Given the description of an element on the screen output the (x, y) to click on. 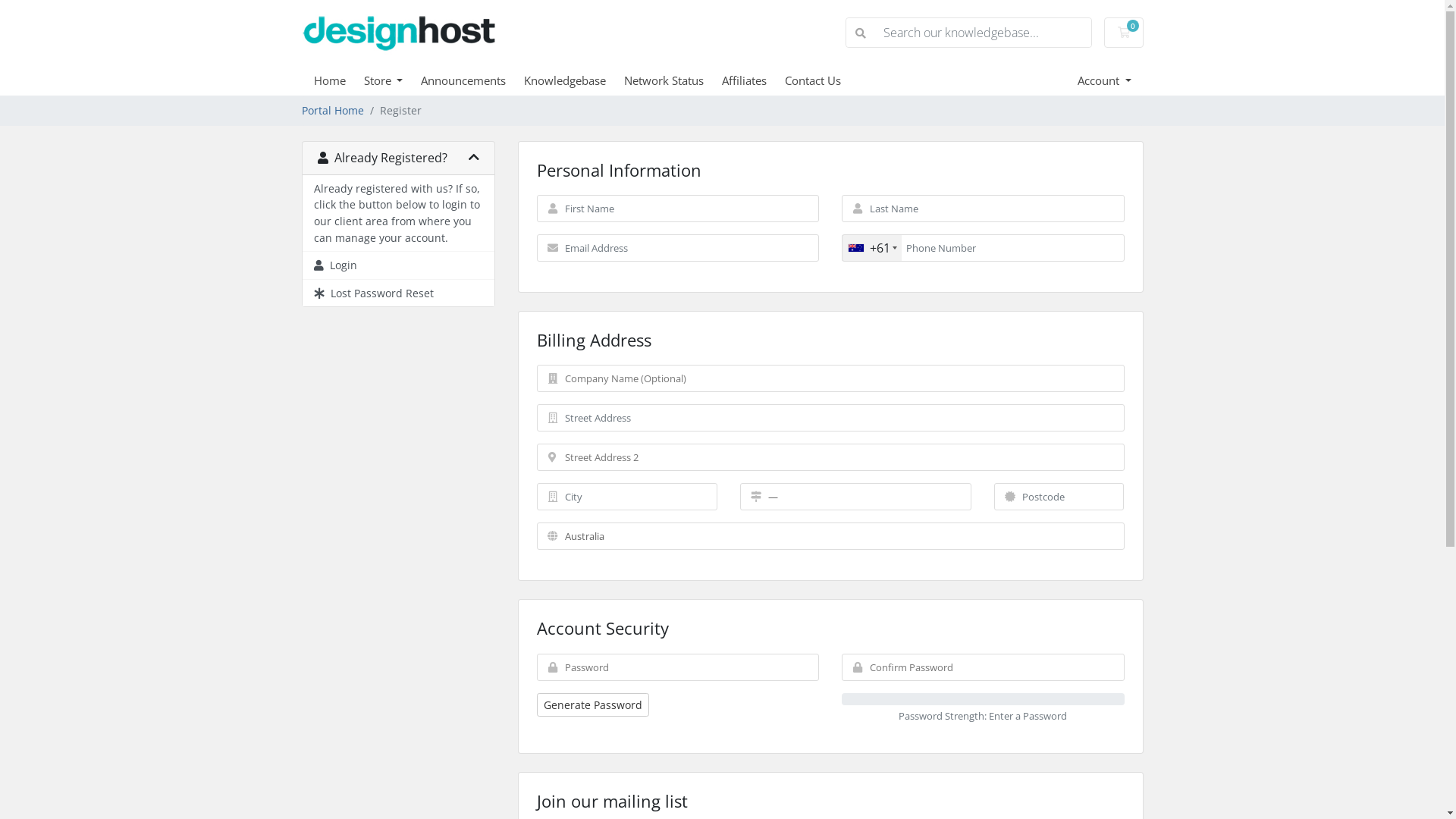
Generate Password Element type: text (592, 704)
0
Shopping Cart Element type: text (1123, 32)
  Lost Password Reset Element type: text (397, 293)
Store Element type: text (392, 79)
Portal Home Element type: text (332, 110)
  Login Element type: text (397, 265)
Affiliates Element type: text (752, 79)
Knowledgebase Element type: text (574, 79)
Account Element type: text (1104, 79)
Network Status Element type: text (672, 79)
Announcements Element type: text (472, 79)
Home Element type: text (338, 79)
Contact Us Element type: text (821, 79)
